Given the description of an element on the screen output the (x, y) to click on. 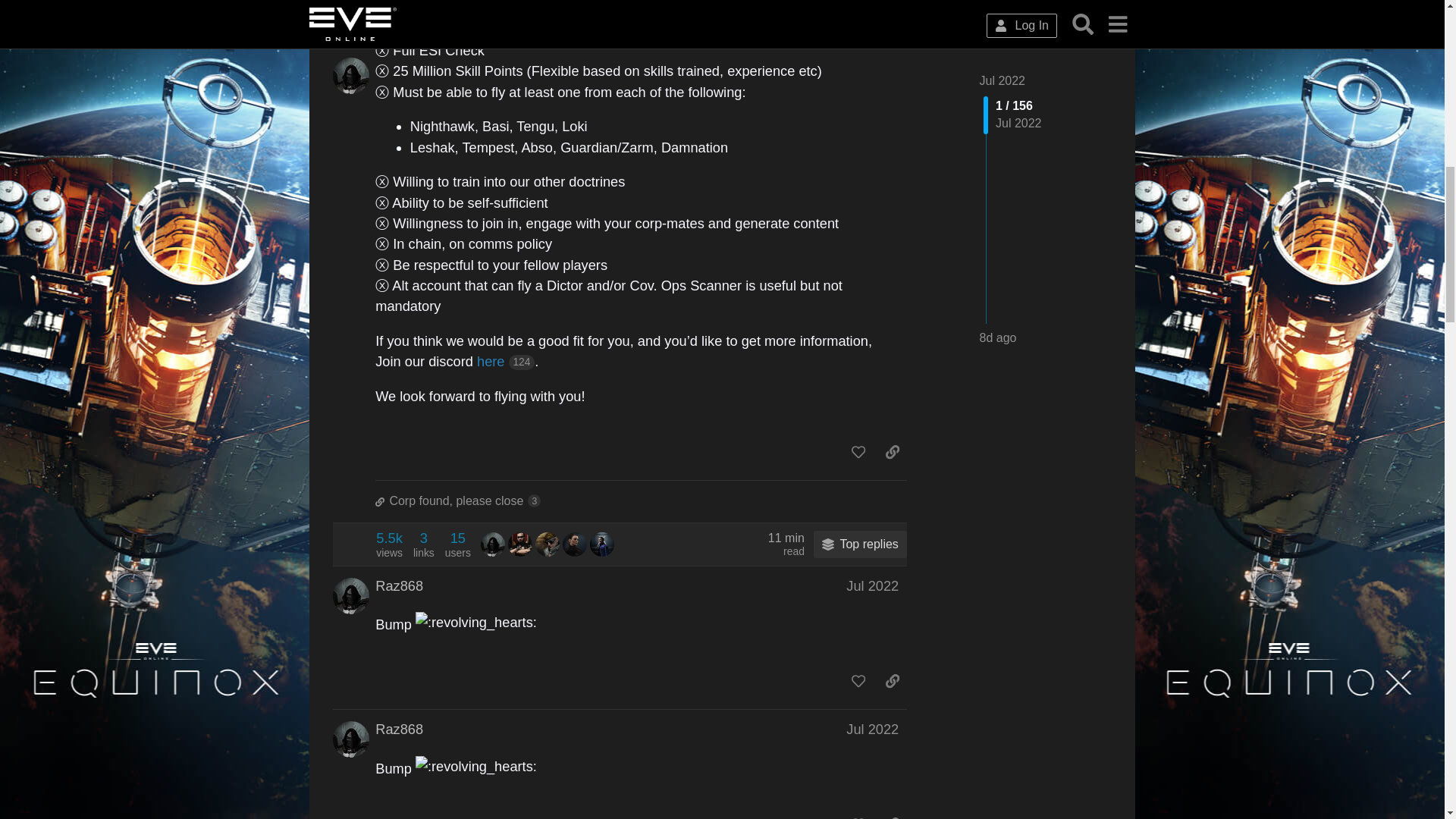
like this post (858, 451)
copy a link to this post to clipboard (892, 451)
124 clicks (521, 362)
Raz868 (641, 501)
KingEfrainIV Aishai (389, 544)
here 124 (399, 586)
Top replies (520, 544)
